Given the description of an element on the screen output the (x, y) to click on. 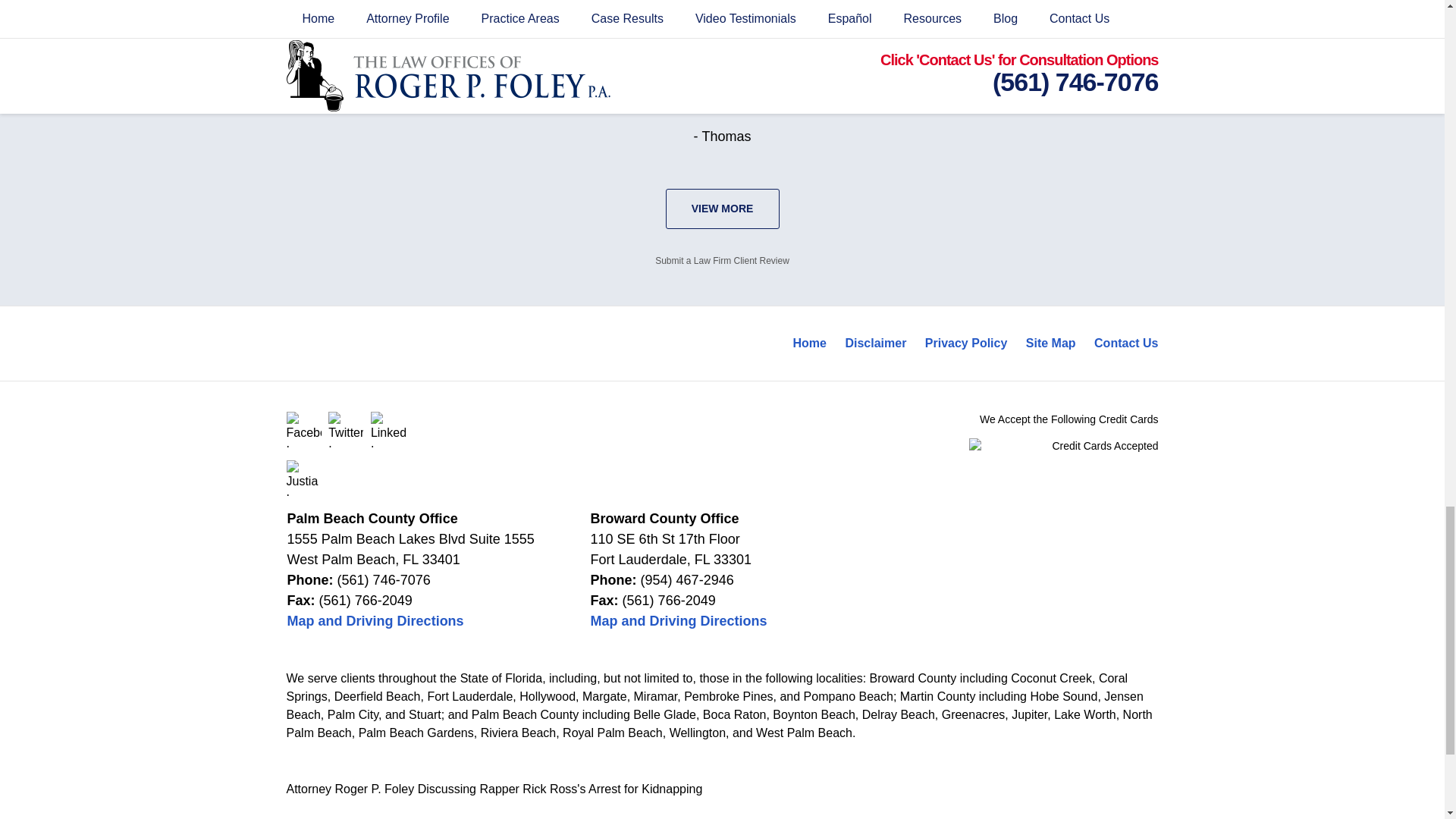
Twitter (345, 428)
Facebook (303, 428)
Justia (303, 477)
LinkedIn (388, 428)
